Given the description of an element on the screen output the (x, y) to click on. 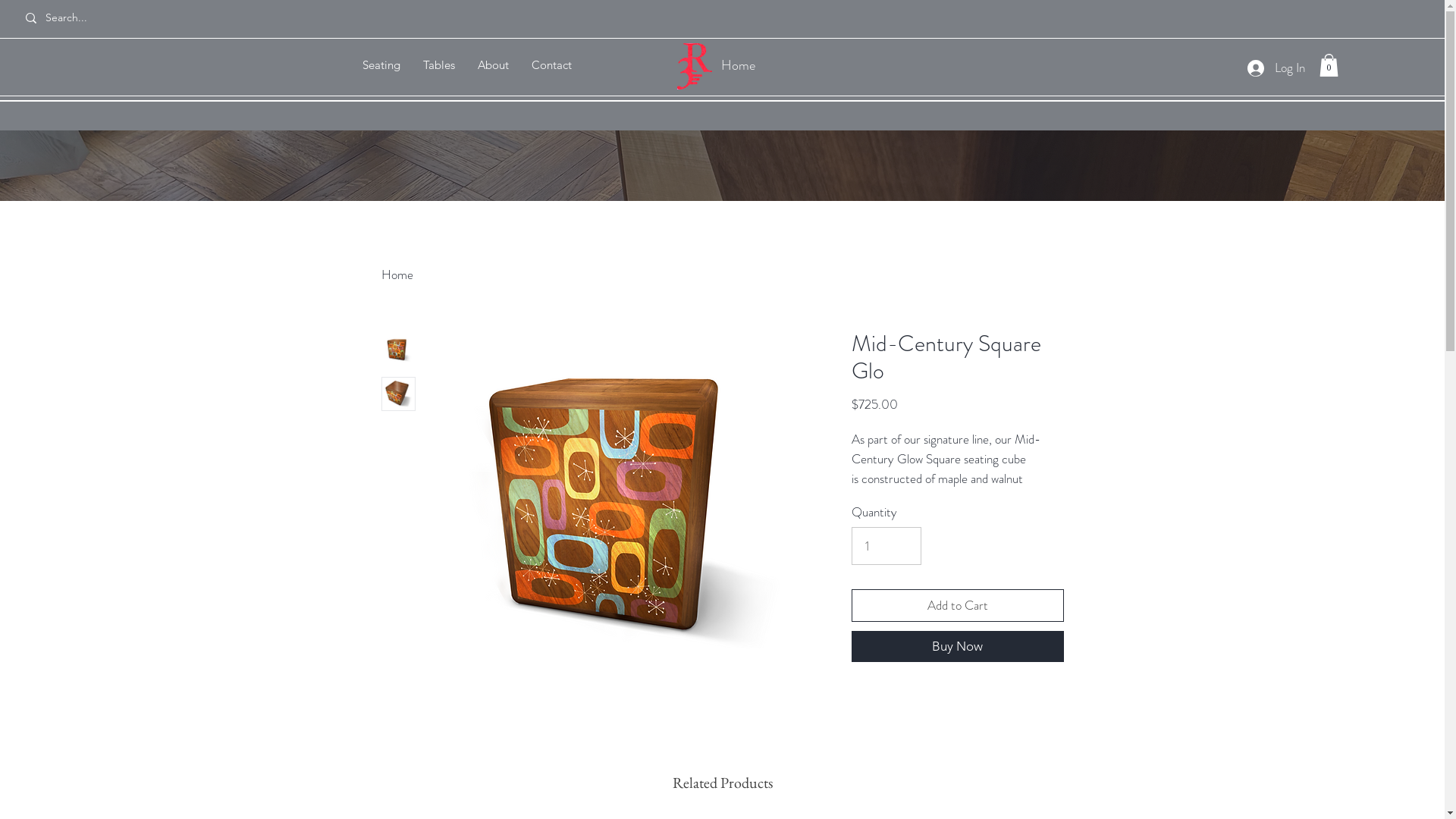
Buy Now Element type: text (956, 646)
Home Element type: text (738, 65)
0 Element type: text (1328, 64)
Log In Element type: text (1275, 67)
About Element type: text (492, 65)
Add to Cart Element type: text (956, 605)
Contact Element type: text (551, 65)
Seating Element type: text (380, 65)
Home Element type: text (396, 274)
Tables Element type: text (438, 65)
